Given the description of an element on the screen output the (x, y) to click on. 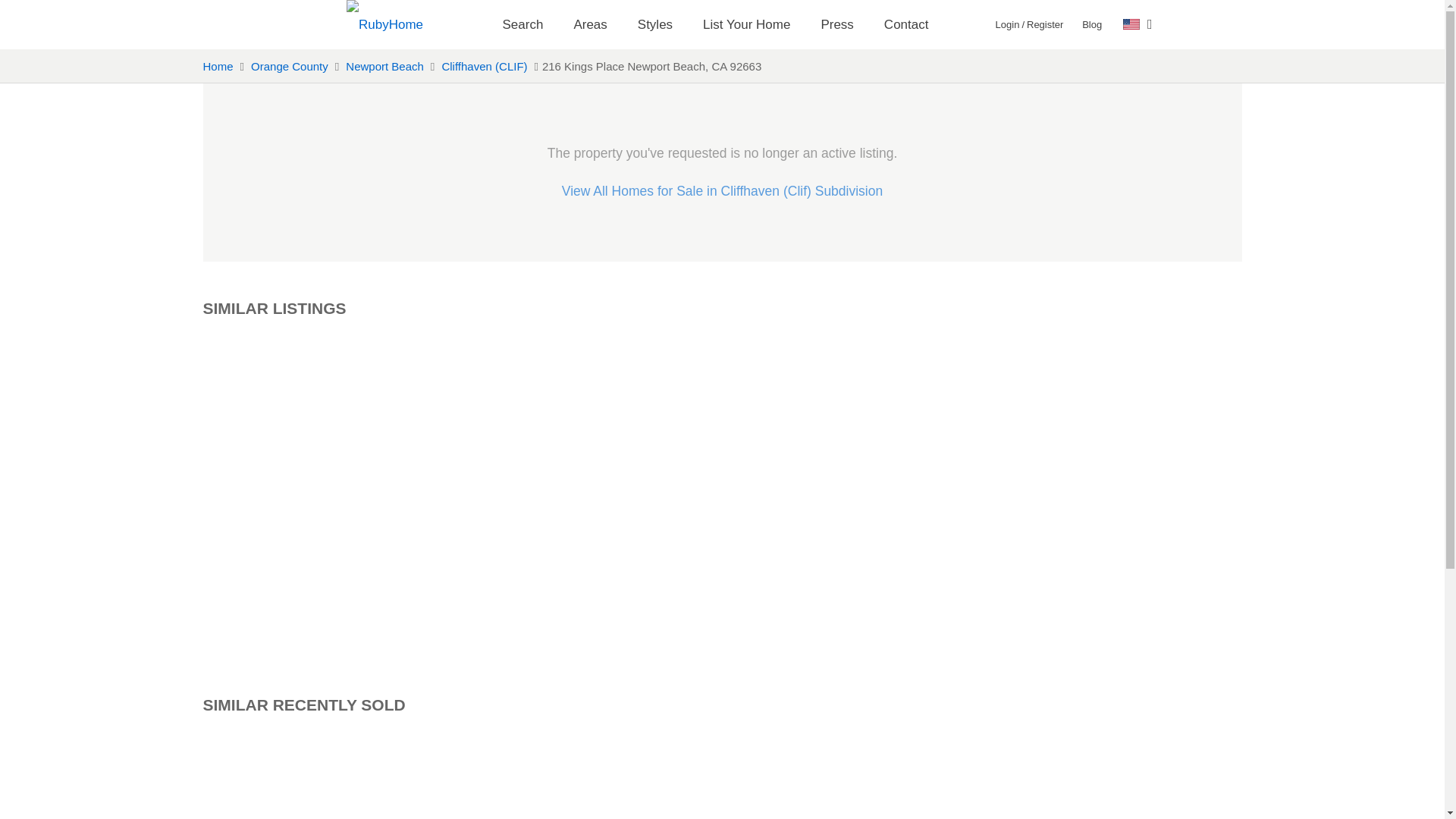
Styles (655, 24)
Select Language (1137, 24)
List Your Home (1091, 24)
Contact (746, 24)
Press (906, 24)
Areas (836, 24)
Search (589, 24)
Register (521, 24)
